Given the description of an element on the screen output the (x, y) to click on. 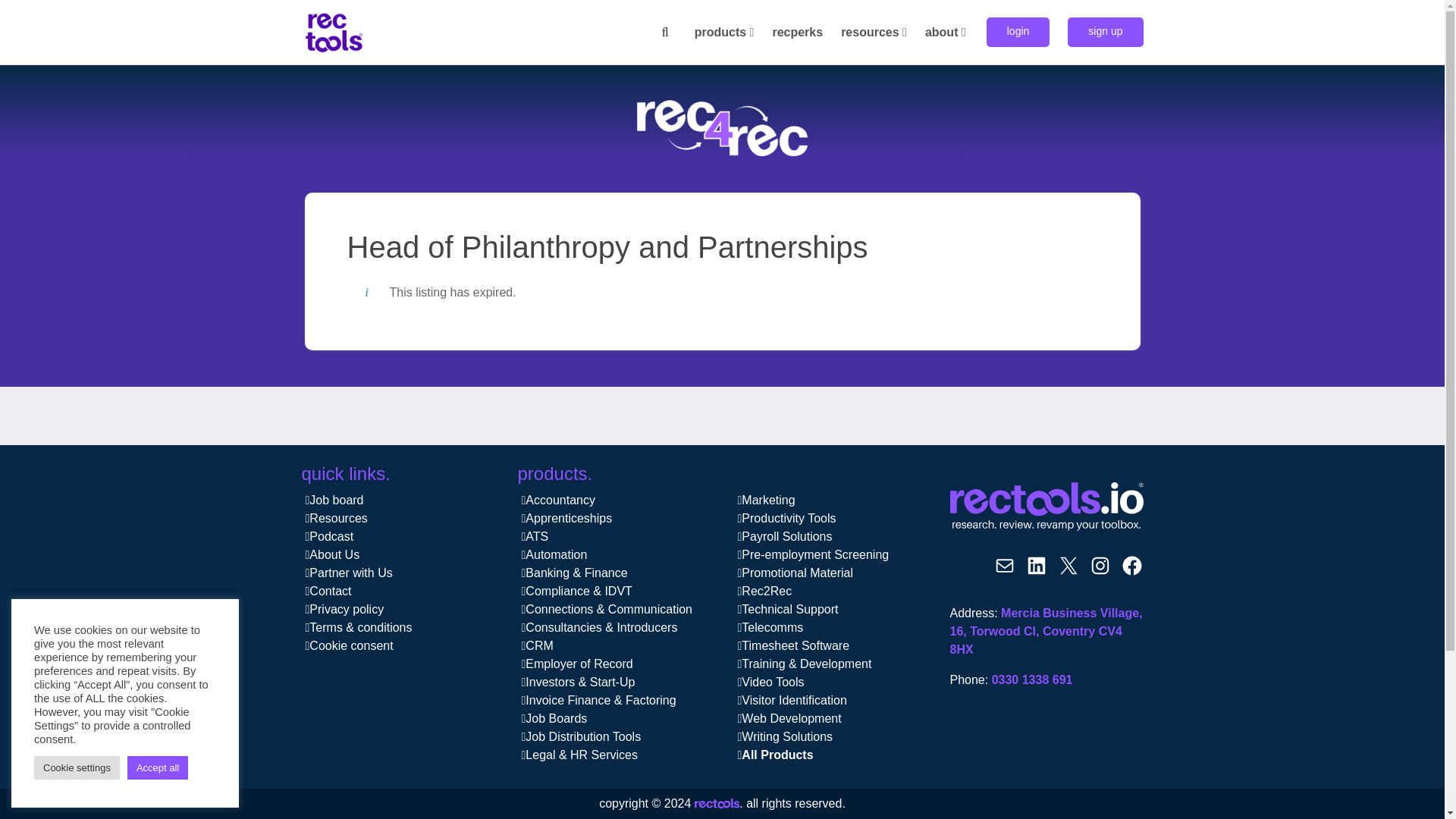
Products (725, 31)
products (725, 31)
Home (333, 31)
login (1018, 31)
sign up (1104, 31)
rectools.io (716, 804)
recperks (797, 31)
Rectools.io (1045, 506)
resources (873, 31)
